Given the description of an element on the screen output the (x, y) to click on. 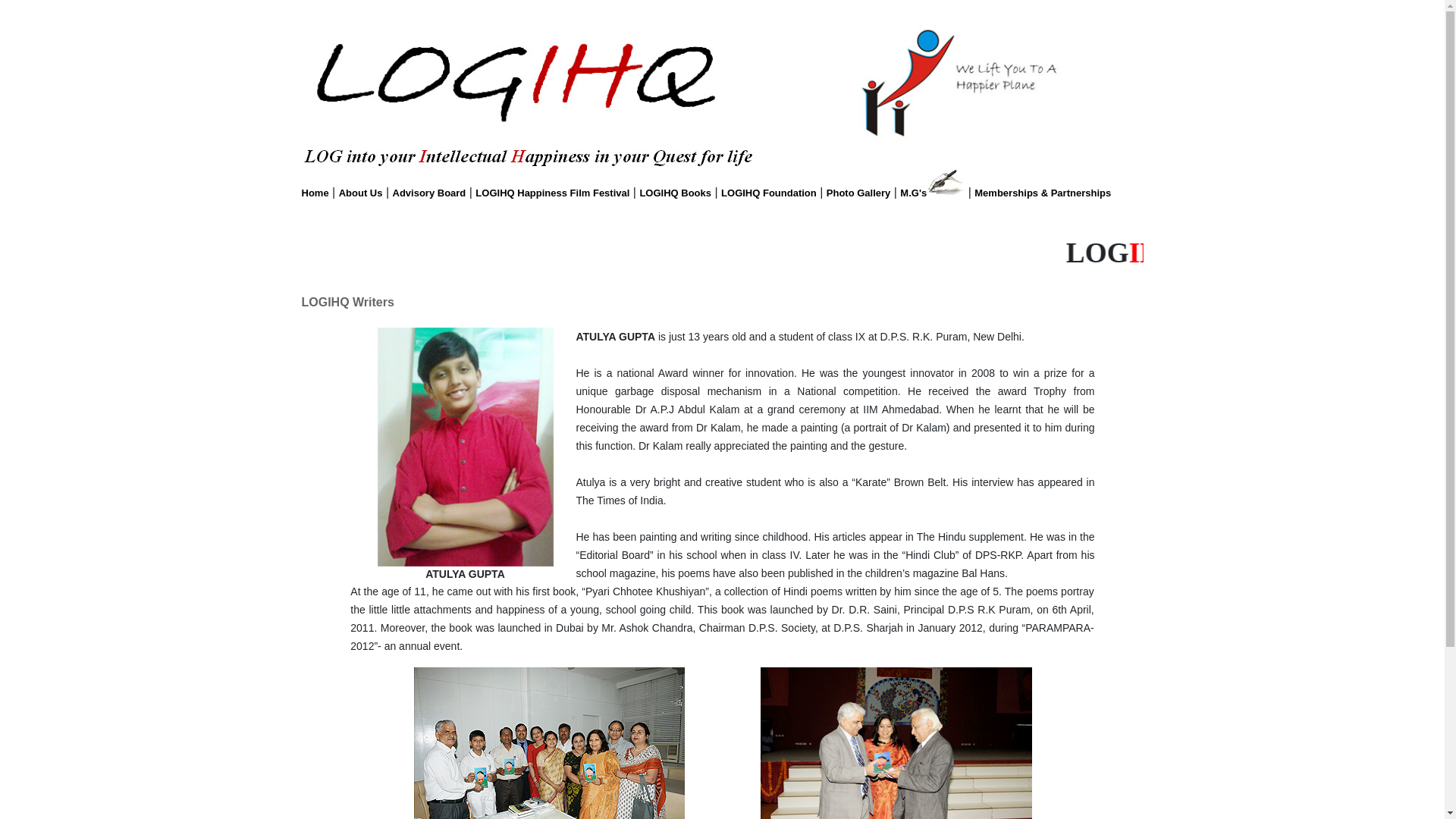
M.G's (912, 193)
Home (315, 193)
LOGIHQ Happiness Film Festival (552, 193)
Advisory Board (429, 193)
About Us (360, 193)
International (1325, 252)
LOGIHQ  International H (721, 253)
LOGIHQ Foundation (768, 193)
LOGIHQ Books (675, 193)
Photo Gallery (859, 193)
LOGIHQ  International H (721, 251)
LOGIHQ (1174, 252)
